Given the description of an element on the screen output the (x, y) to click on. 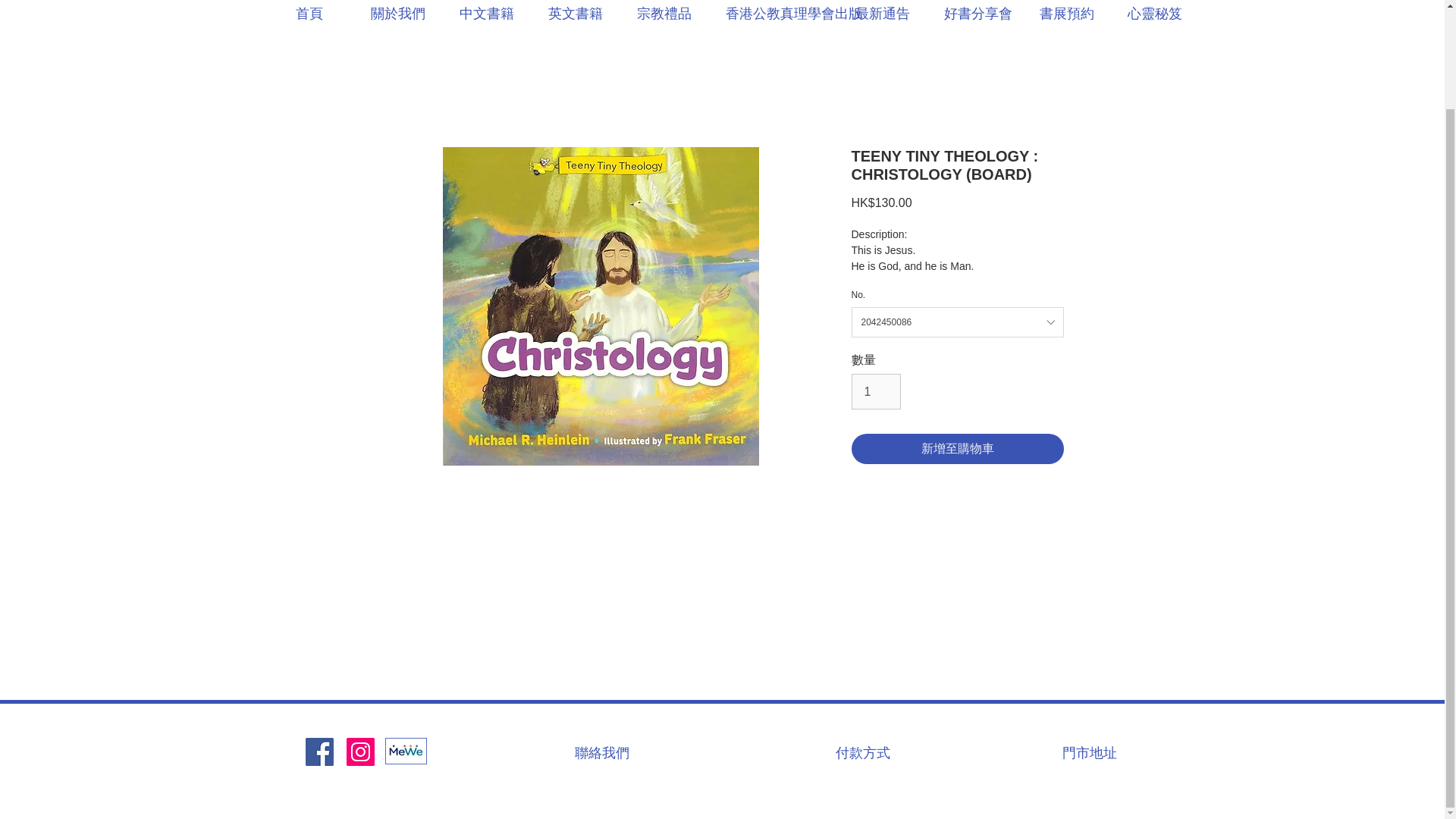
1 (874, 390)
2042450086 (956, 322)
